Given the description of an element on the screen output the (x, y) to click on. 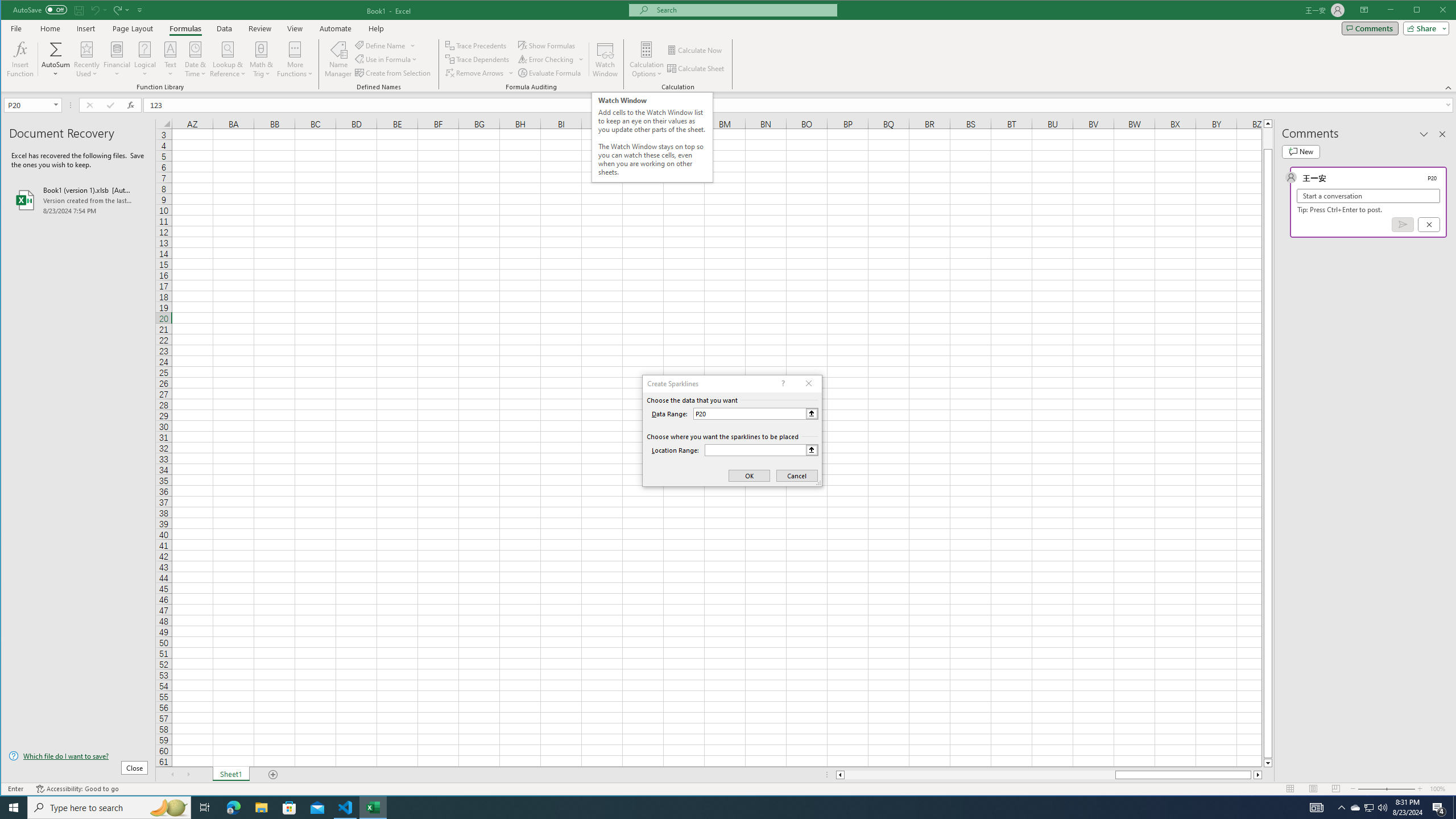
Show Formulas (547, 45)
Recently Used (86, 59)
Watch Window (604, 59)
More Functions (294, 59)
Page up (1267, 138)
Error Checking... (546, 59)
Page left (979, 774)
